Given the description of an element on the screen output the (x, y) to click on. 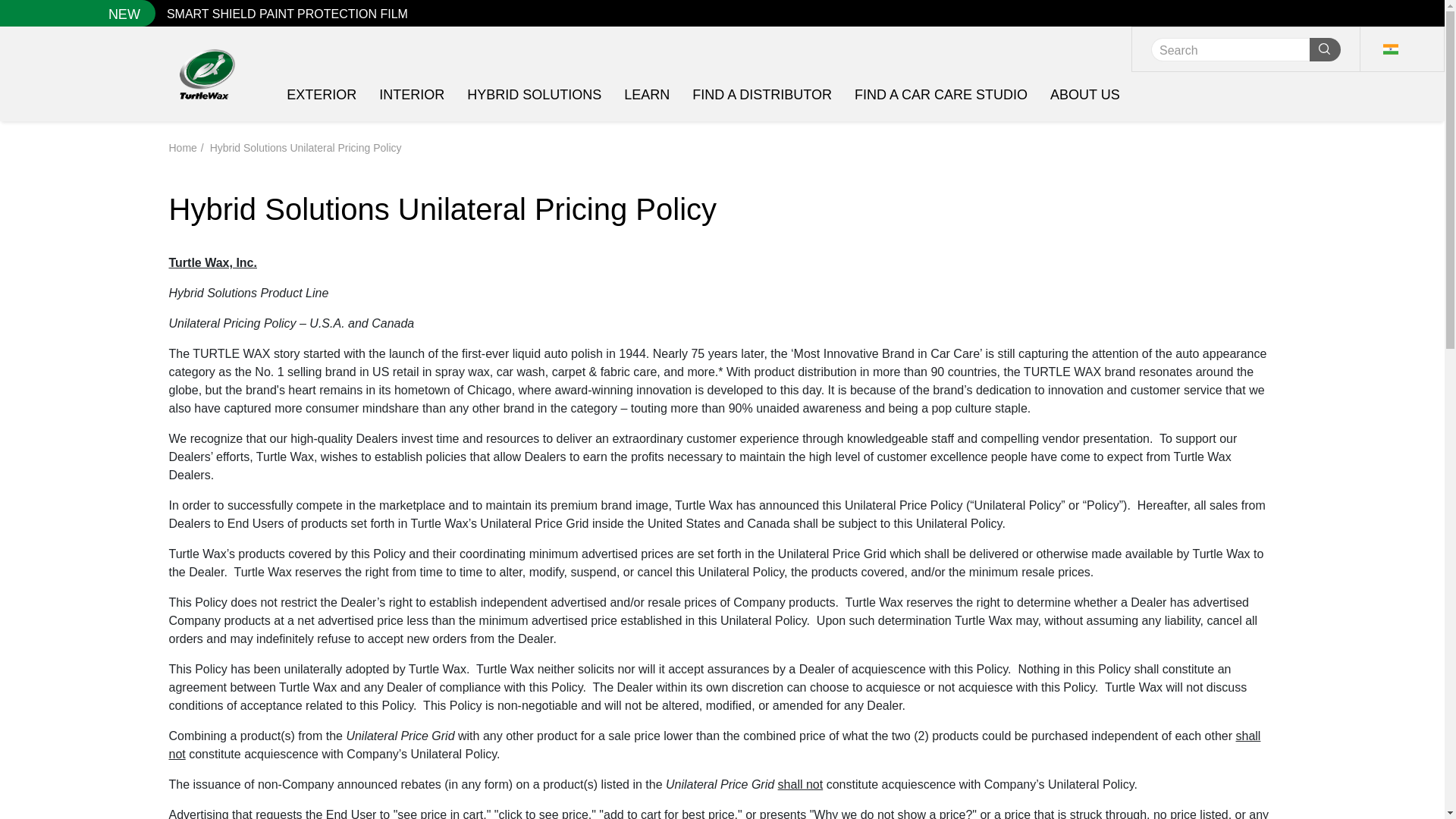
INTERIOR (411, 92)
Back to the frontpage (182, 147)
EXTERIOR (321, 92)
